Given the description of an element on the screen output the (x, y) to click on. 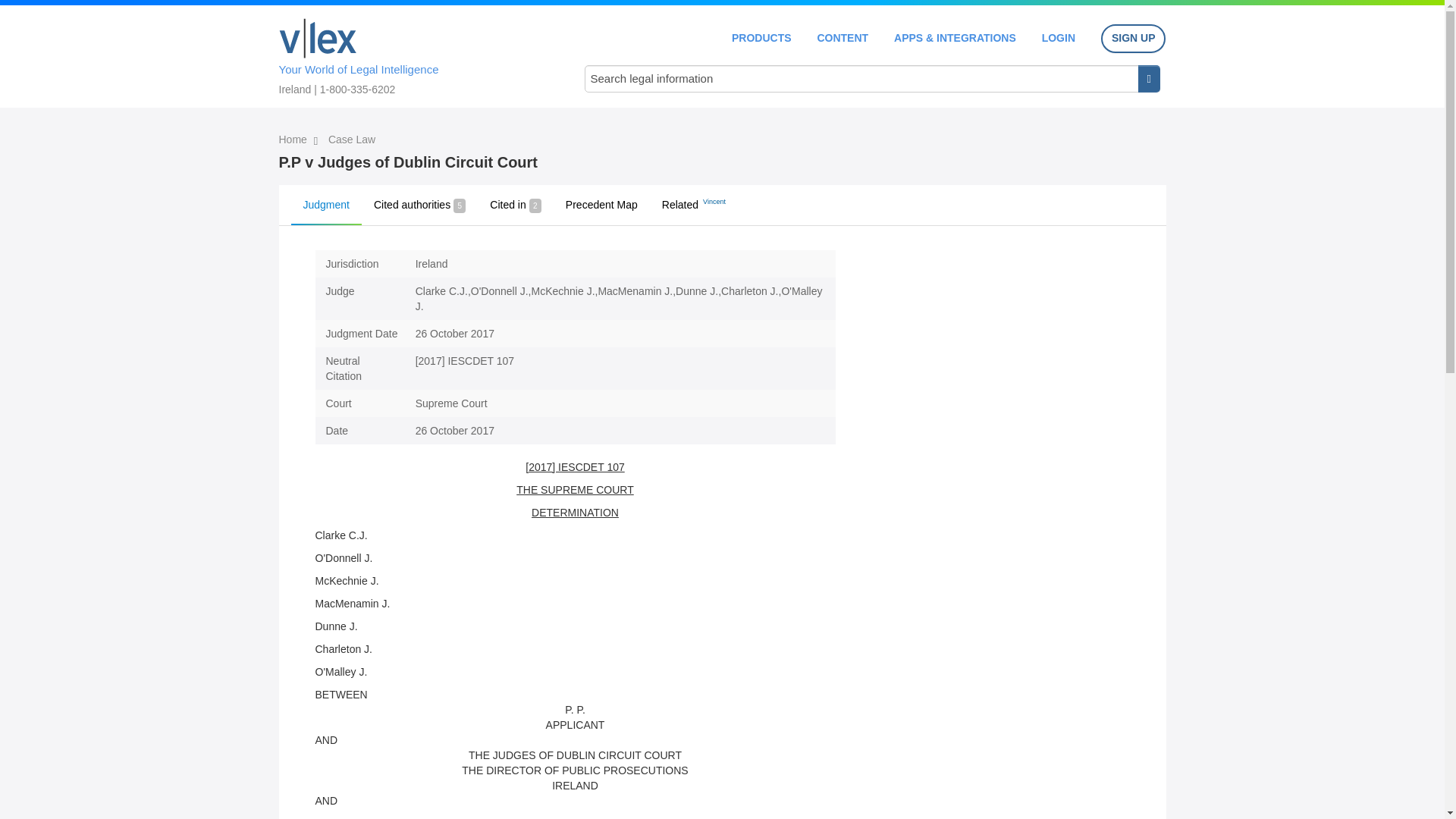
CONTENT (841, 37)
LOGIN (1058, 37)
Case Law (352, 139)
Home (294, 139)
Your World of Legal Intelligence (416, 53)
SIGN UP (1133, 38)
Home (317, 38)
PRODUCTS (762, 37)
